Given the description of an element on the screen output the (x, y) to click on. 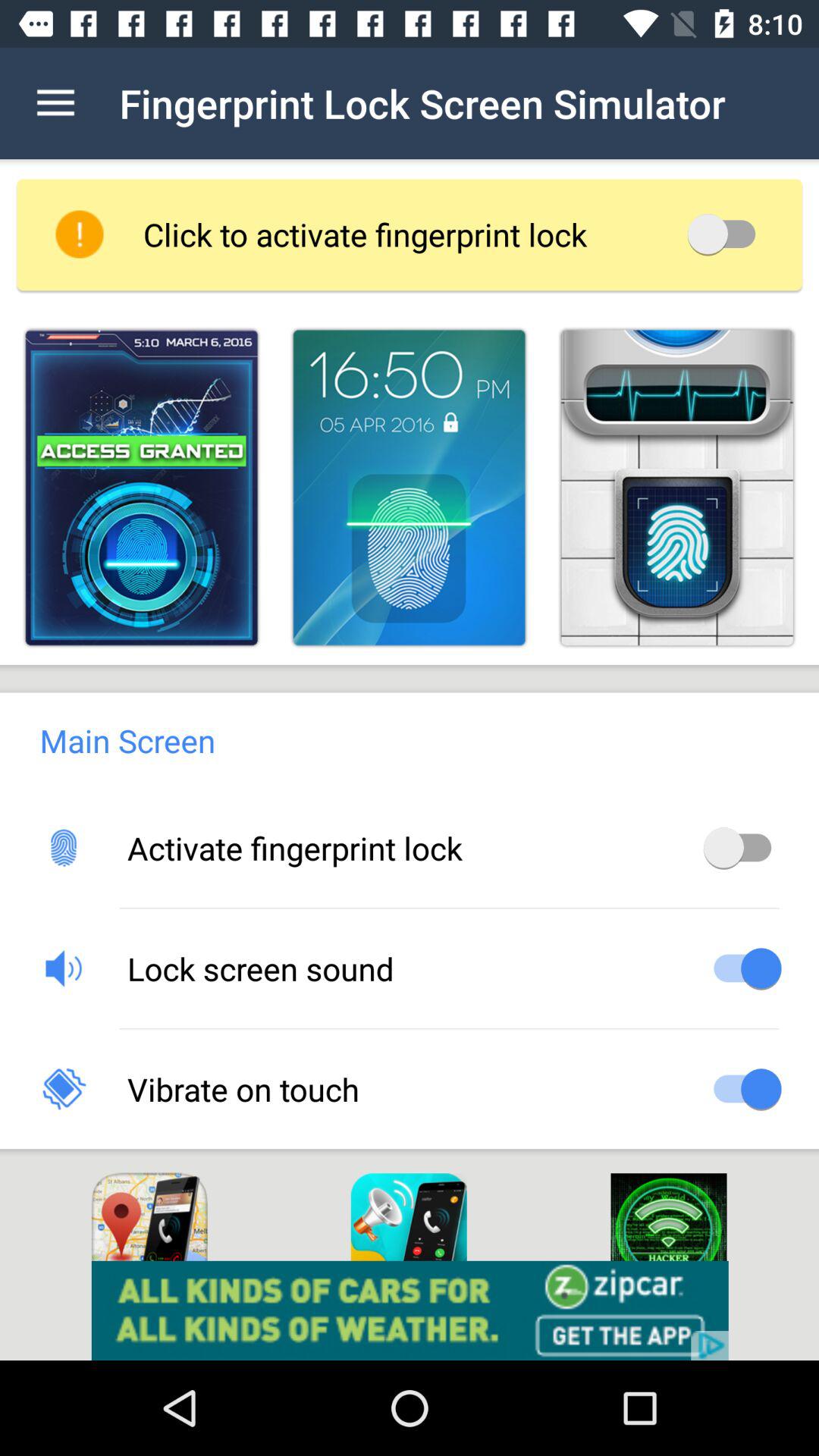
changes theme (677, 487)
